Given the description of an element on the screen output the (x, y) to click on. 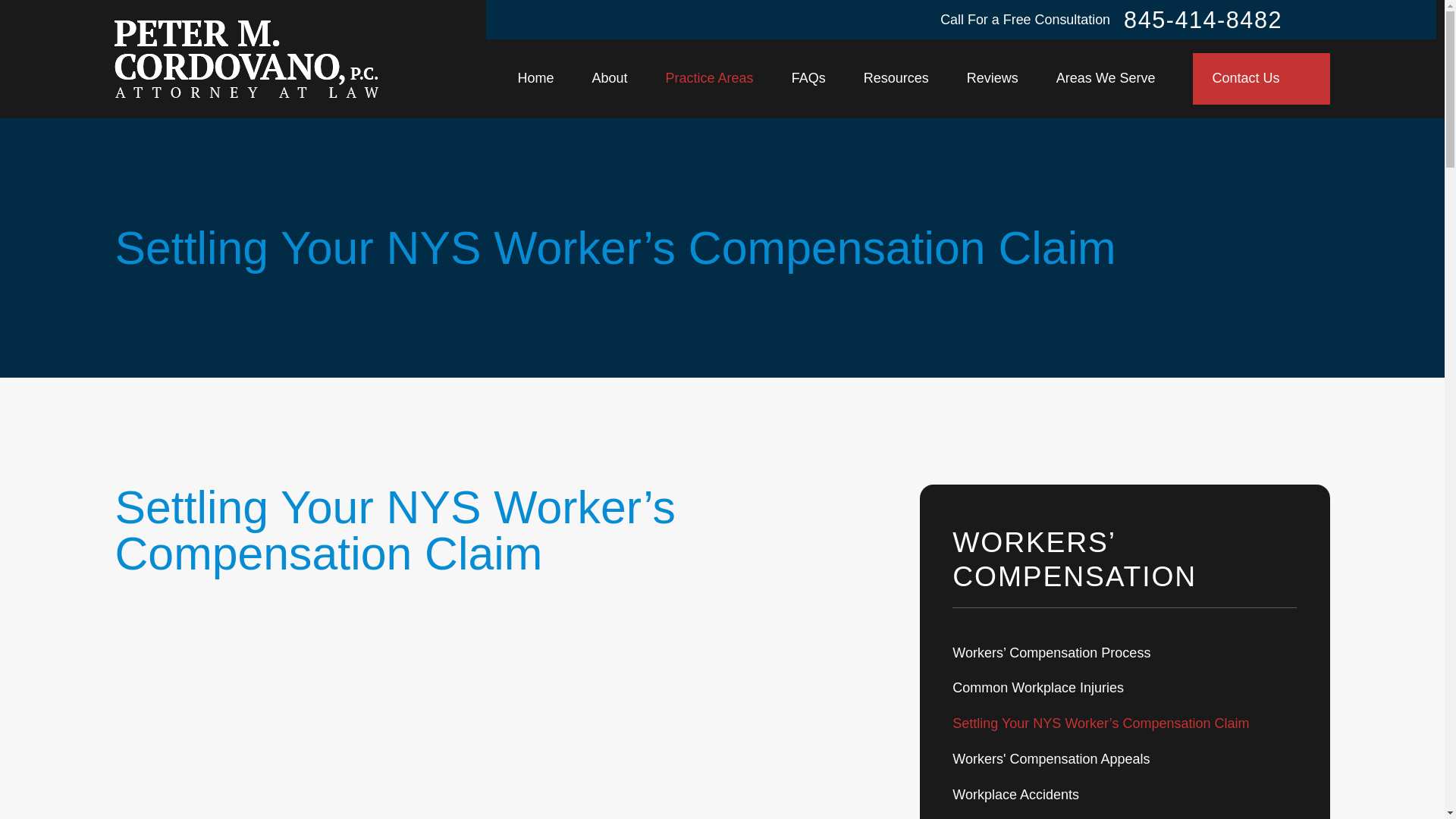
Resources (895, 78)
Practice Areas (709, 78)
845-414-8482 (1203, 19)
Areas We Serve (1106, 78)
Reviews (991, 78)
Home (246, 58)
